Given the description of an element on the screen output the (x, y) to click on. 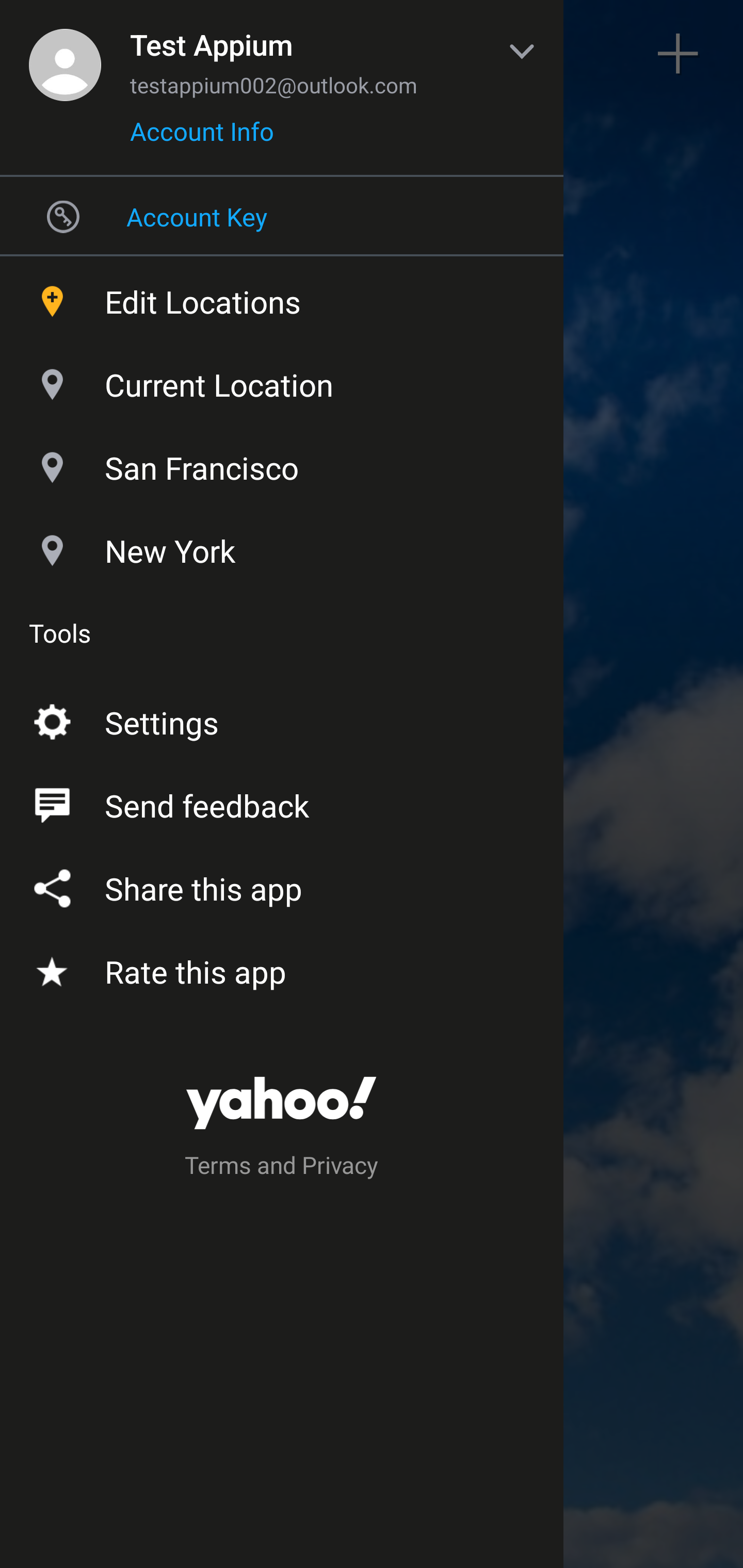
Sidebar (64, 54)
Account Info (202, 137)
Account Key (281, 216)
Edit Locations (281, 296)
Current Location (281, 379)
San Francisco (281, 462)
New York (281, 546)
Settings (281, 718)
Send feedback (281, 801)
Share this app (281, 884)
Terms and Privacy Terms and privacy button (281, 1168)
